Given the description of an element on the screen output the (x, y) to click on. 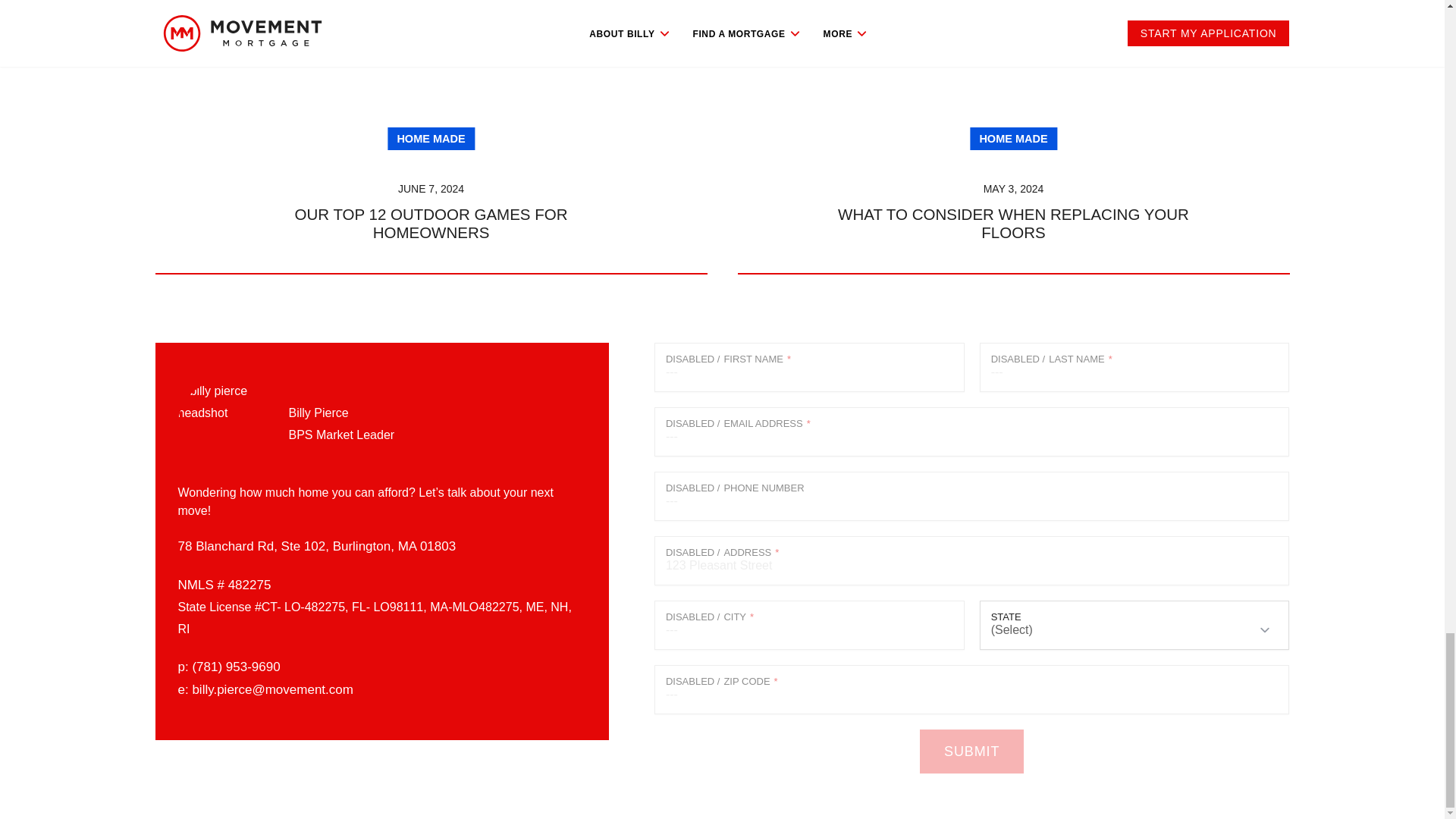
Submit (971, 751)
